Given the description of an element on the screen output the (x, y) to click on. 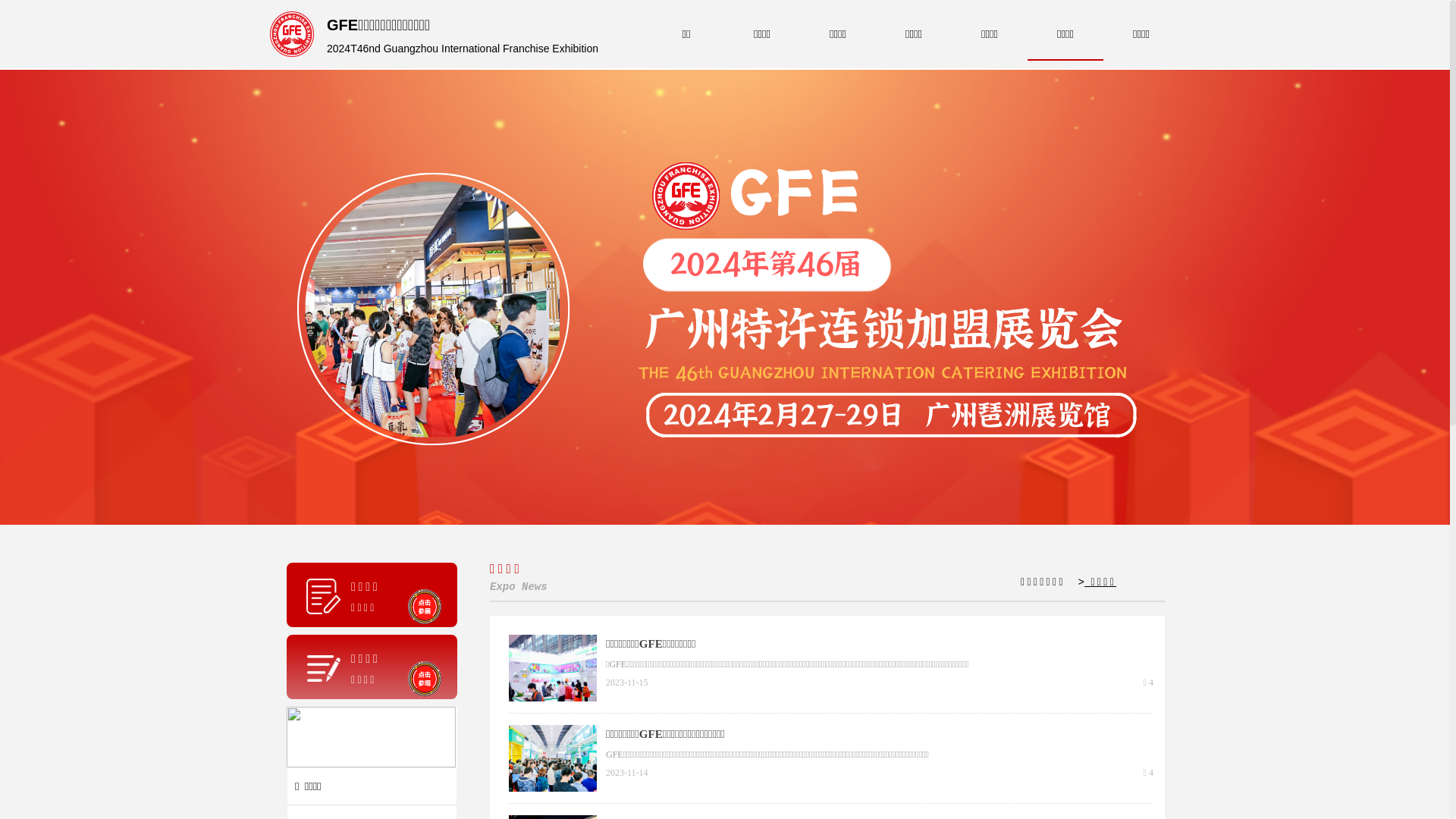
2024T46nd Guangzhou International Franchise Exhibition Element type: text (462, 49)
